Given the description of an element on the screen output the (x, y) to click on. 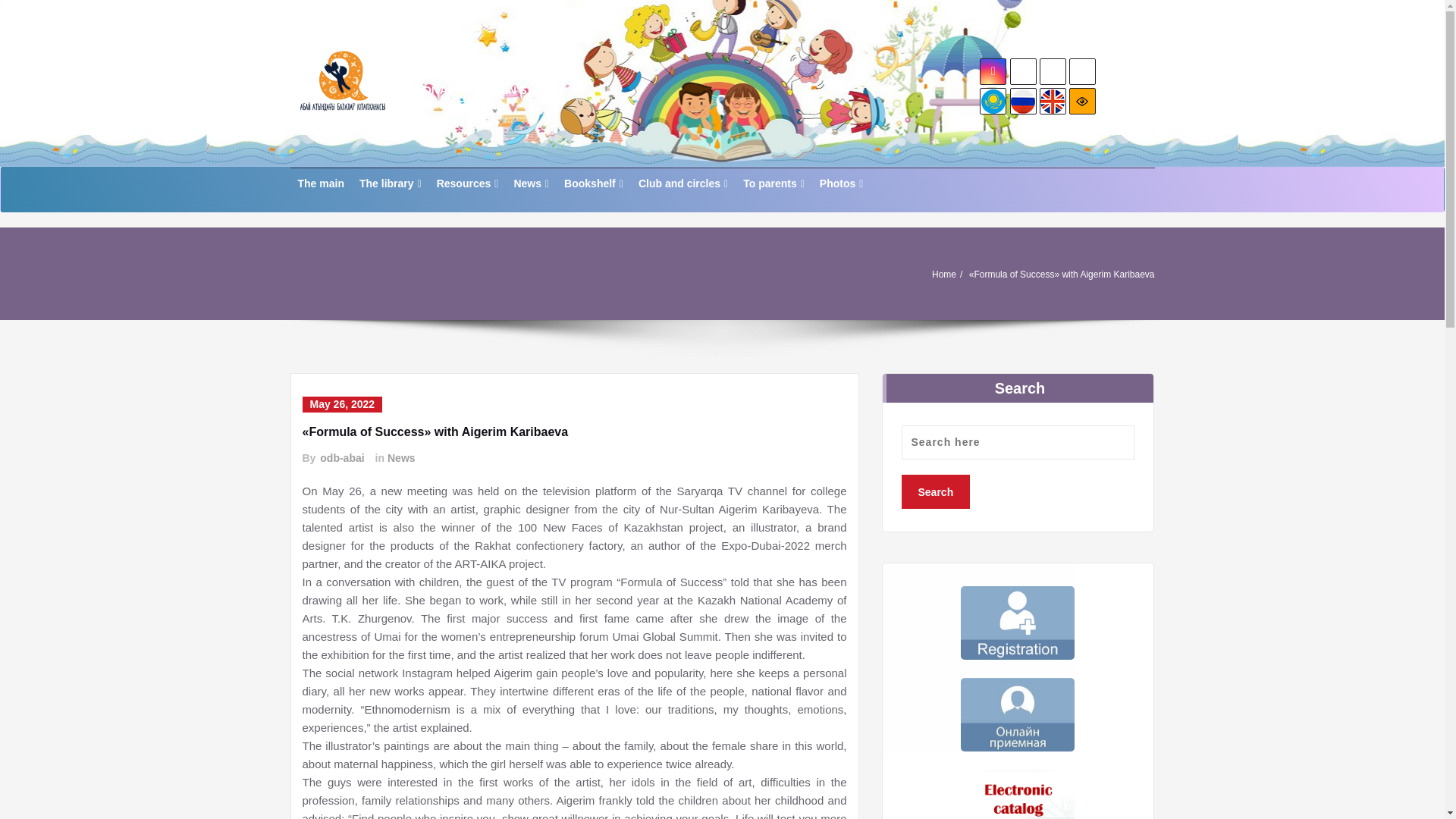
EN (1052, 101)
Resources (467, 183)
RU (1022, 101)
The main (319, 183)
Search (935, 491)
Club and circles (682, 183)
Search (935, 491)
News (530, 183)
Bookshelf (593, 183)
KZ (993, 101)
